Given the description of an element on the screen output the (x, y) to click on. 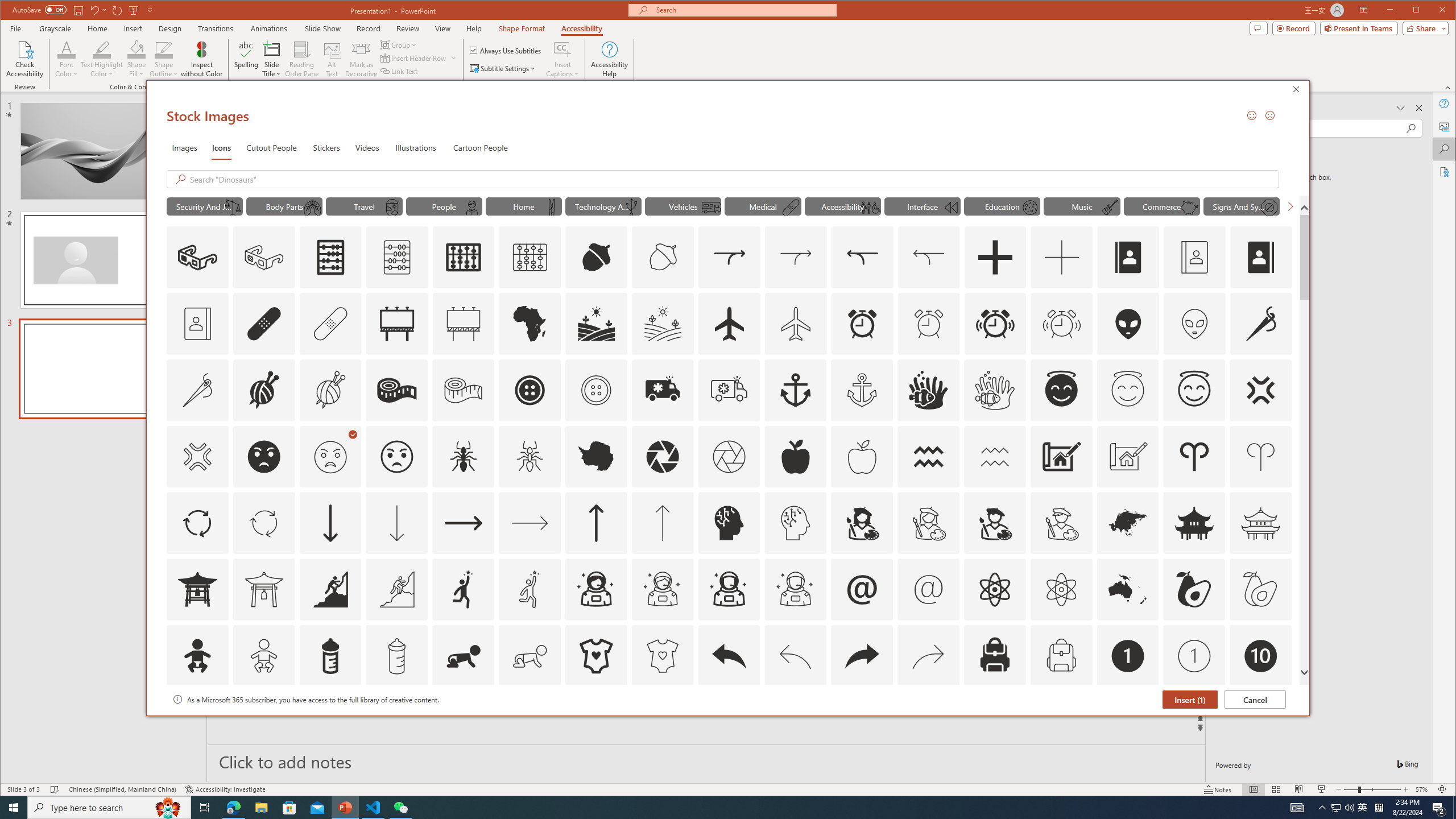
AutomationID: Icons_AlterationsTailoring2_M (462, 389)
AutomationID: Icons_Badge1 (1128, 655)
AutomationID: Icons_Asia (1128, 522)
AutomationID: Icons_3dGlasses (197, 256)
AutomationID: Icons_Abacus1_M (529, 256)
AutomationID: Icons_AlterationsTailoring3 (529, 389)
AutomationID: Icons_Badge9 (1193, 721)
AutomationID: Icons_ArtistMale_M (1061, 522)
"Interface" Icons. (921, 206)
